Given the description of an element on the screen output the (x, y) to click on. 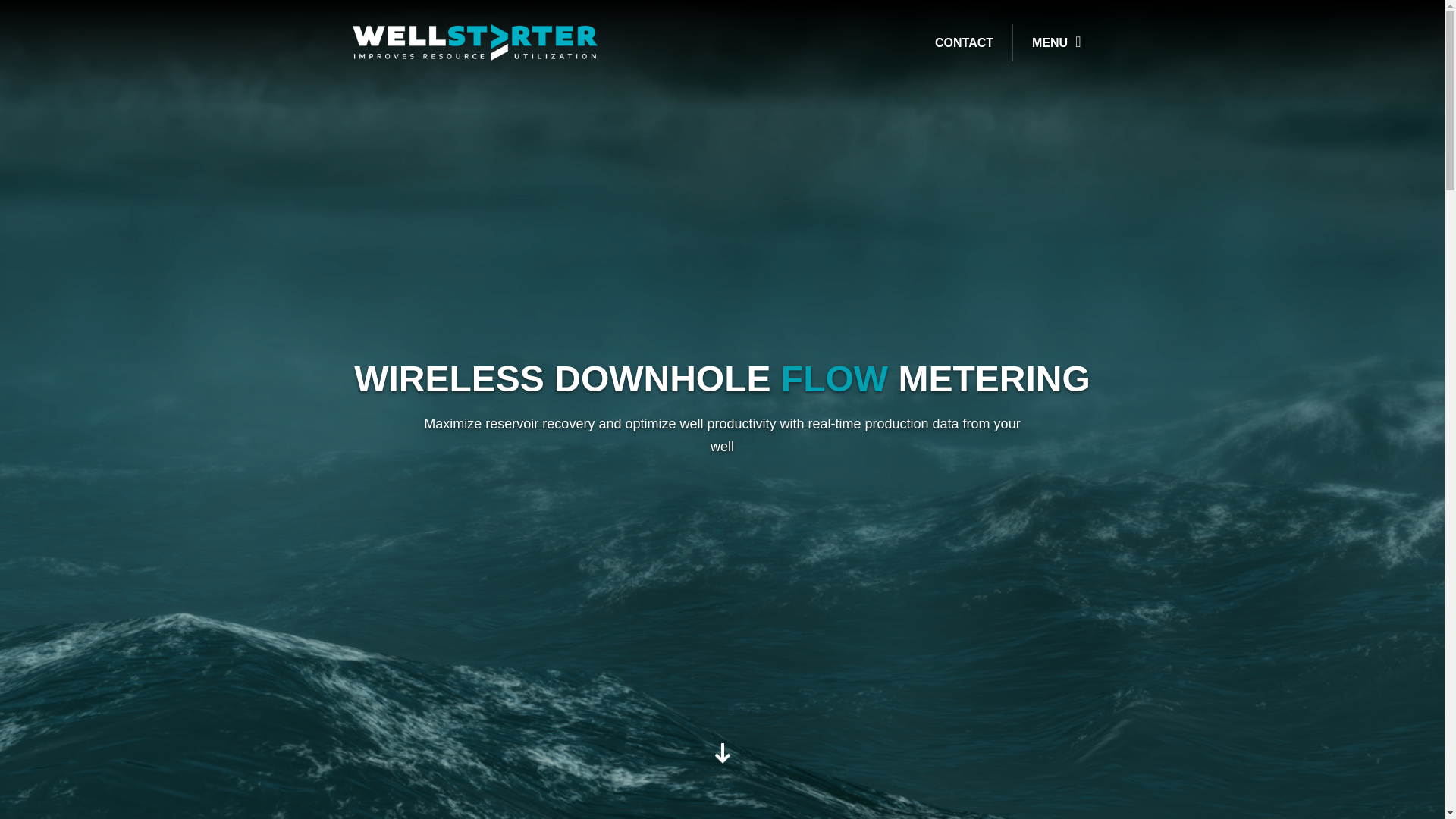
MENU (1056, 42)
View contact information (967, 42)
Welcome (721, 758)
CONTACT (967, 42)
Wellstarter (474, 41)
